Given the description of an element on the screen output the (x, y) to click on. 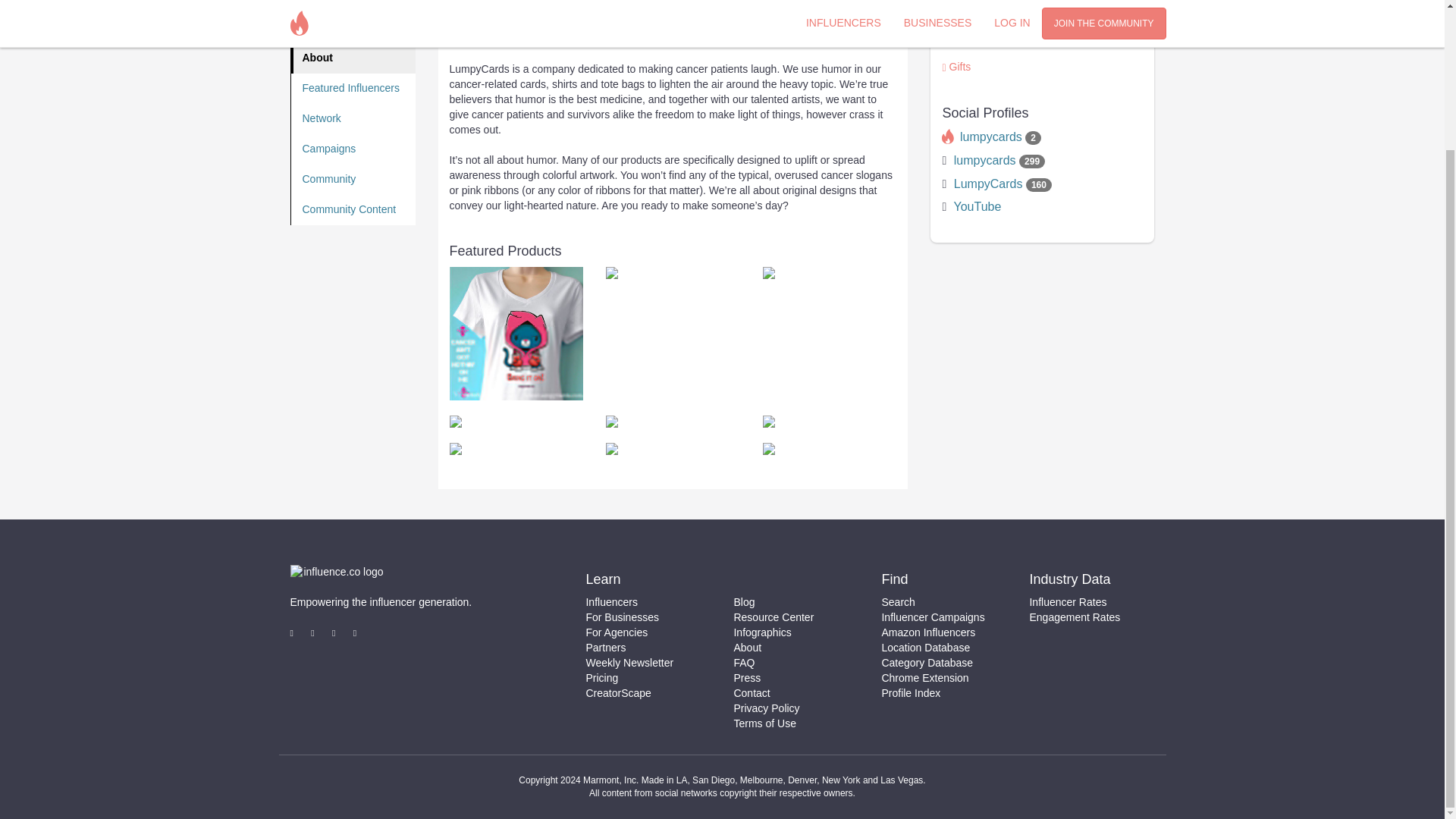
YouTube (977, 205)
LumpyCards (988, 183)
Network (352, 119)
About (352, 58)
Community (352, 179)
Cancer (966, 40)
Home (352, 28)
Gifts (960, 66)
lumpycards (984, 160)
Community Content (352, 209)
